Given the description of an element on the screen output the (x, y) to click on. 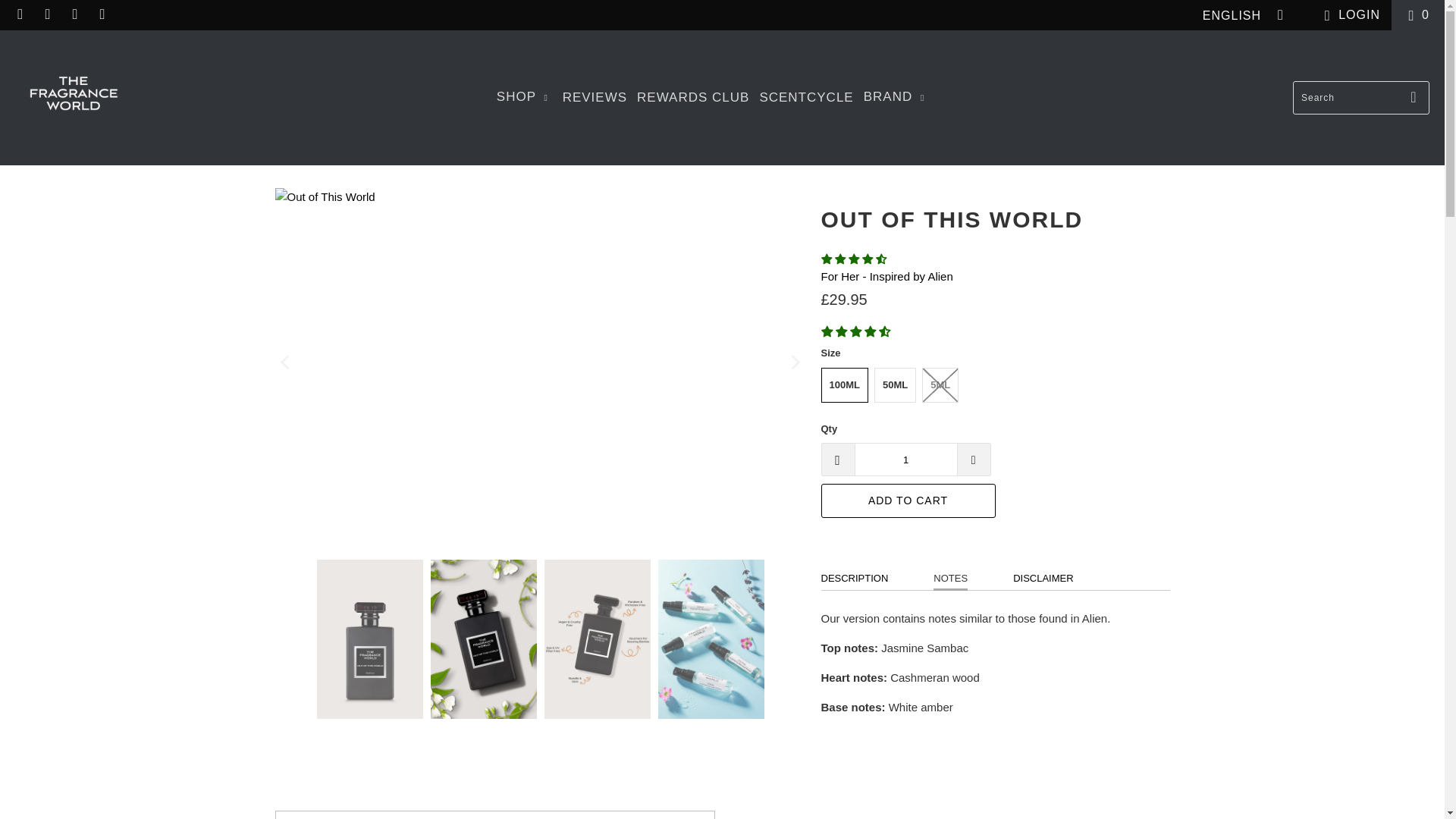
The Fragrance World on LinkedIn (73, 14)
The Fragrance World on Facebook (19, 14)
My Account  (1348, 14)
Email The Fragrance World (101, 14)
The Fragrance World on Instagram (47, 14)
1 (904, 459)
The Fragrance World (73, 97)
